Given the description of an element on the screen output the (x, y) to click on. 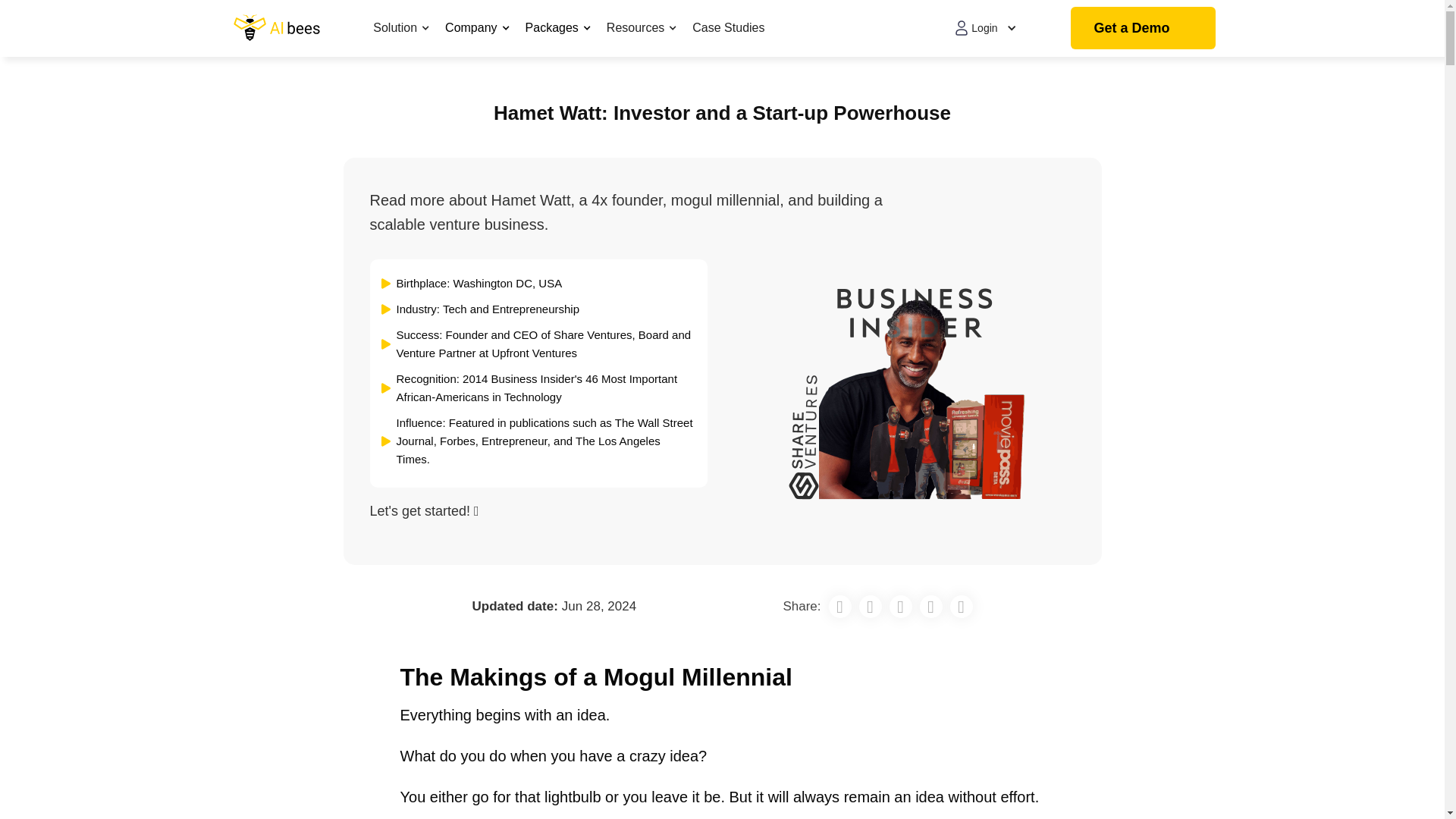
Company (477, 28)
Packages (558, 28)
Get a Demo (1142, 27)
Case Studies (724, 27)
